Given the description of an element on the screen output the (x, y) to click on. 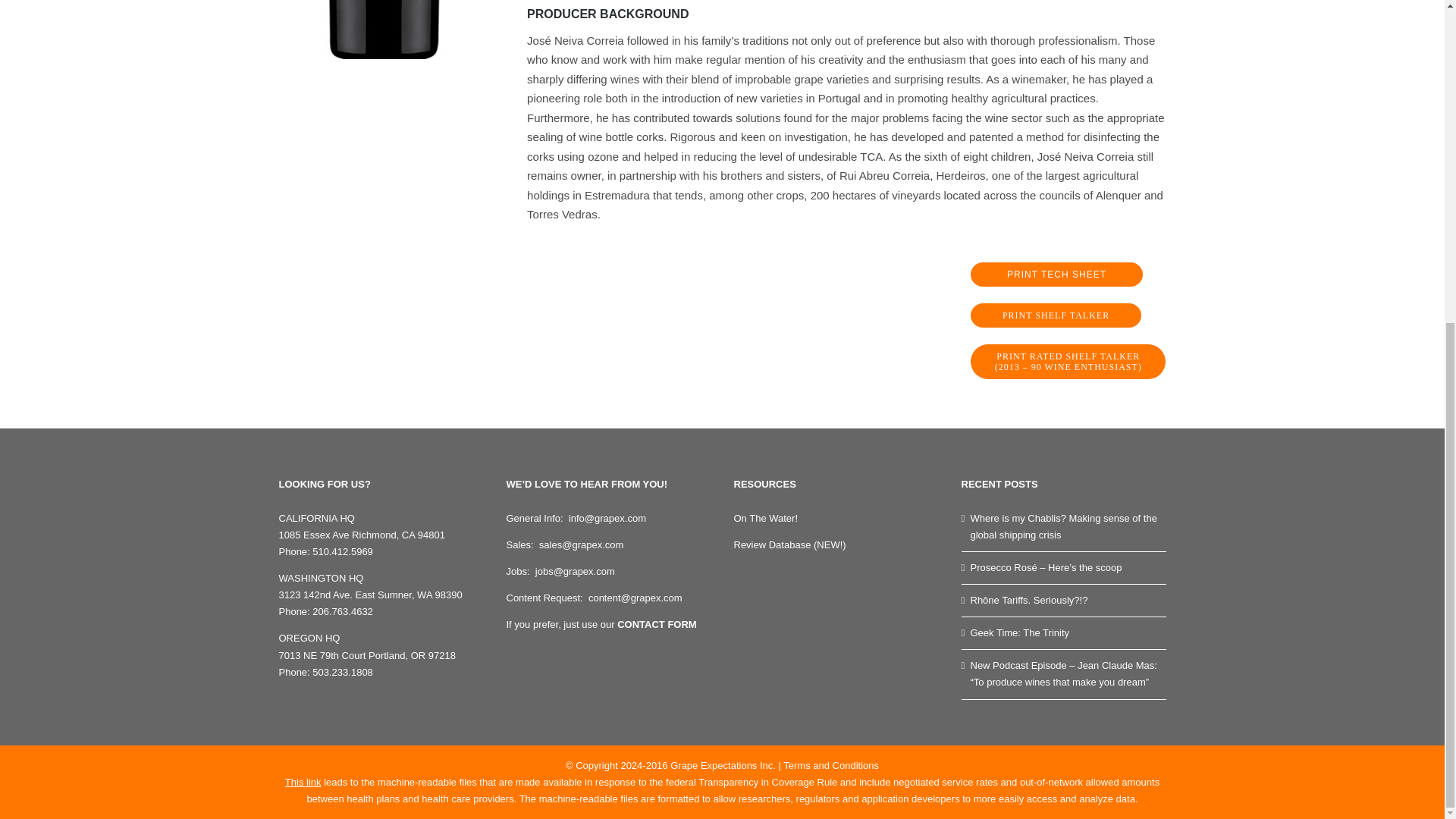
PRINT SHELF TALKER (1056, 315)
PRINT TECH SHEET (1056, 274)
CONTACT FORM (656, 624)
On The Water! (765, 518)
